Given the description of an element on the screen output the (x, y) to click on. 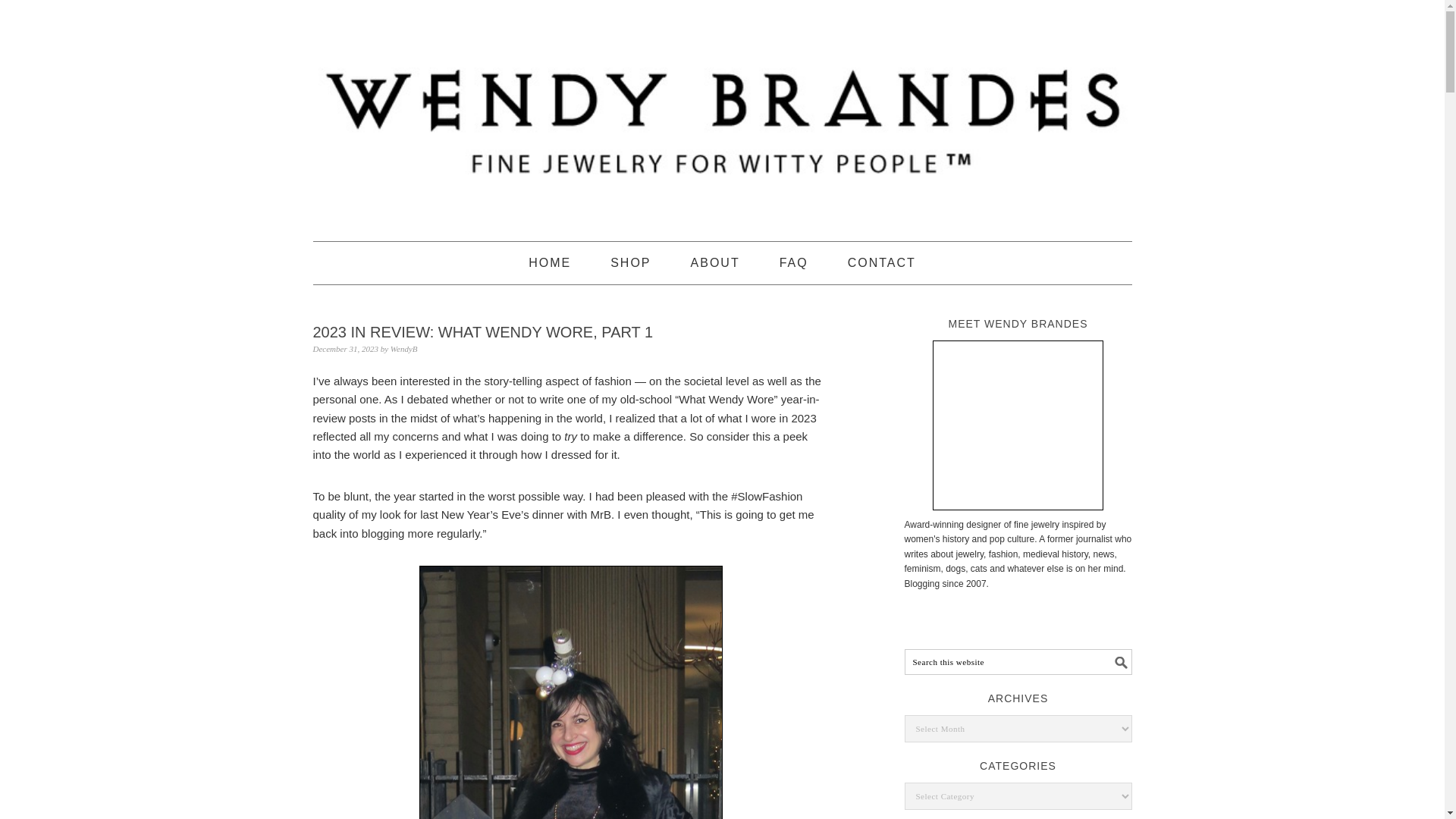
CONTACT (881, 262)
SHOP (630, 262)
FAQ (793, 262)
WendyB (403, 347)
ABOUT (714, 262)
HOME (549, 262)
